Given the description of an element on the screen output the (x, y) to click on. 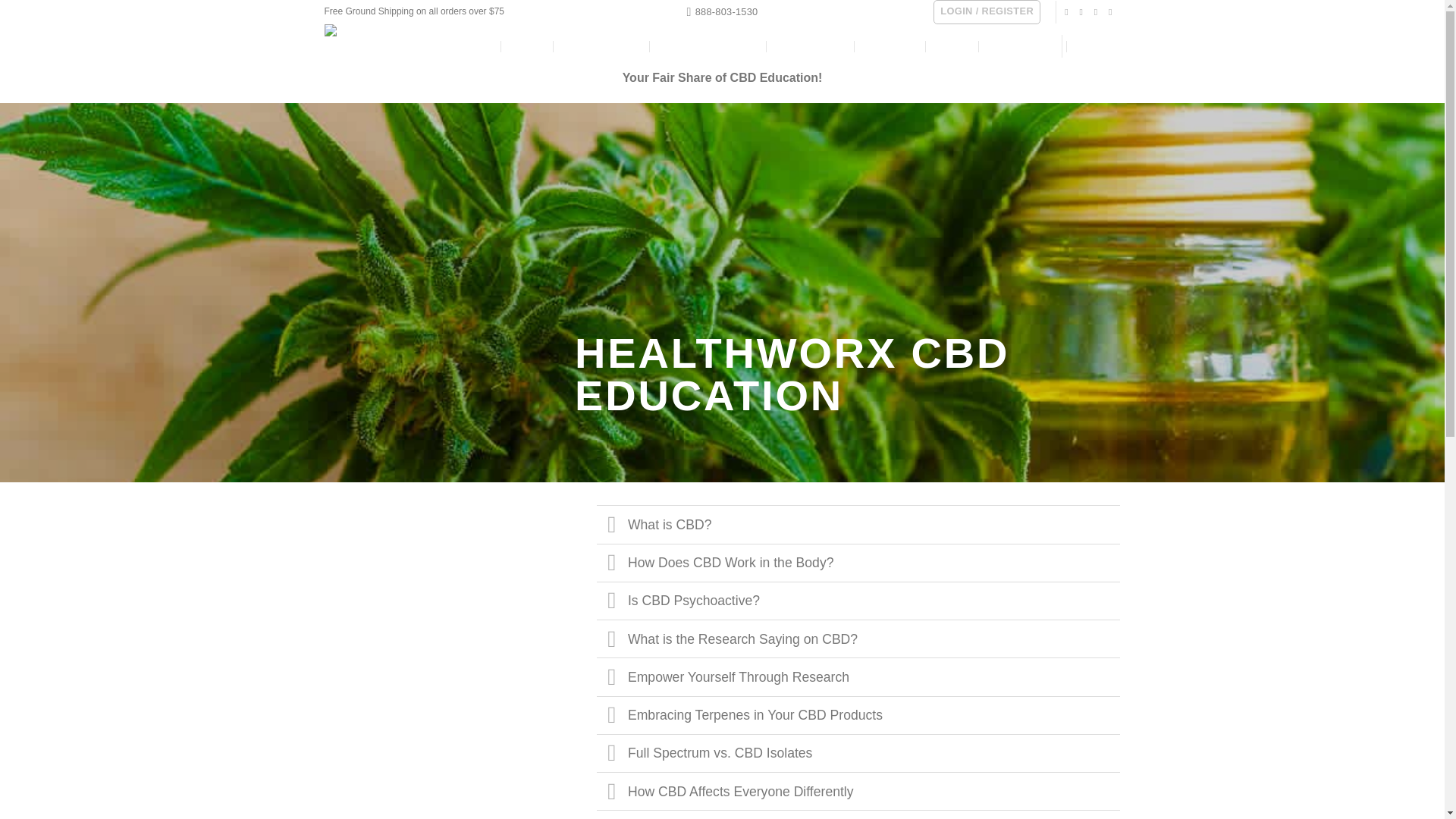
VAPE N TERPS (602, 45)
888-803-1530 (722, 11)
Login (987, 12)
ABOUT US (1017, 45)
CBD REVIEWS (810, 46)
LOYALTY PROGRAM (708, 46)
PARTNER (890, 45)
SHOP (526, 45)
BLOG (952, 45)
888-803-1530 (722, 11)
